Given the description of an element on the screen output the (x, y) to click on. 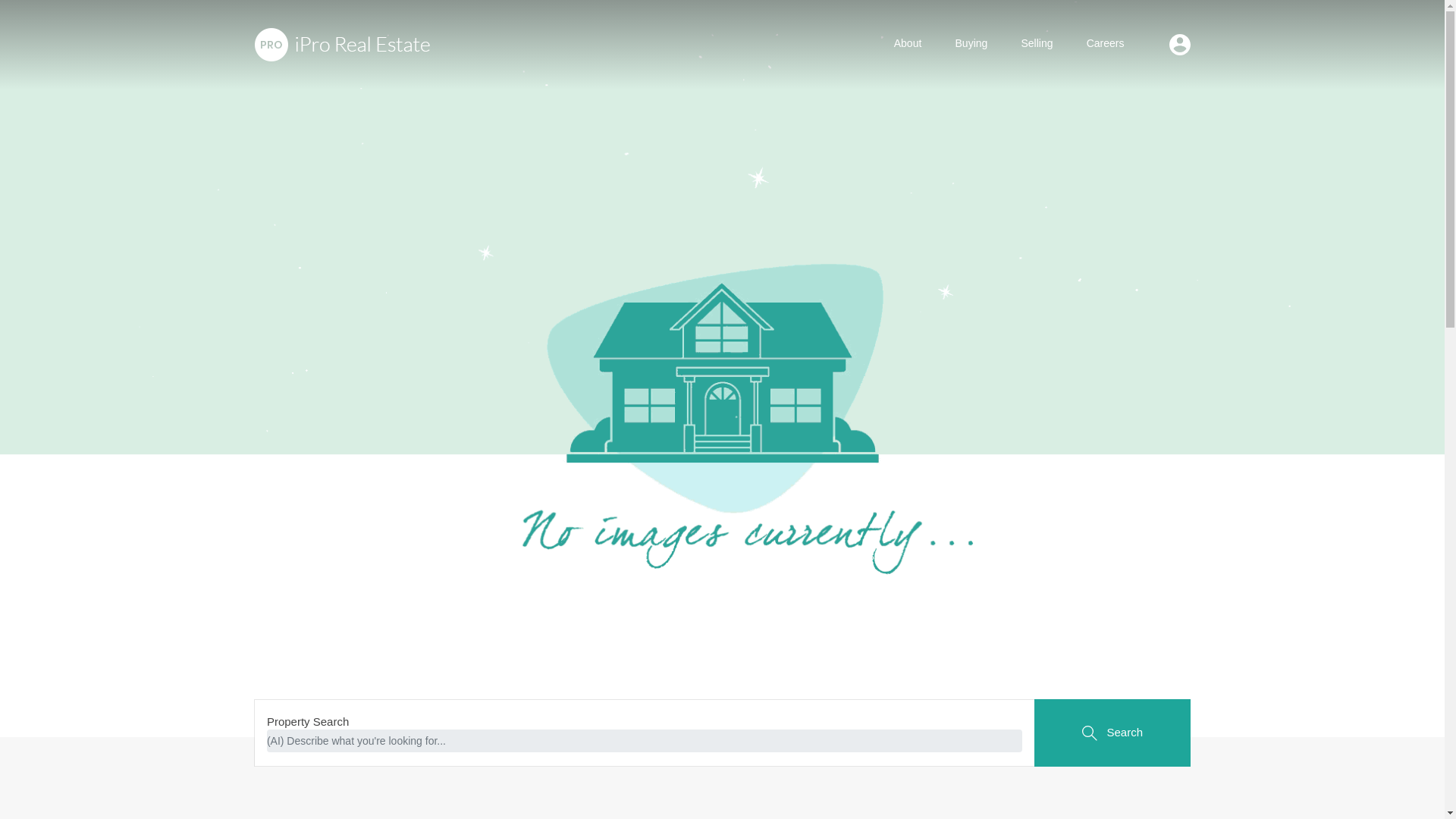
Selling (1036, 44)
Careers (1105, 44)
Buying (971, 44)
About (908, 44)
